Given the description of an element on the screen output the (x, y) to click on. 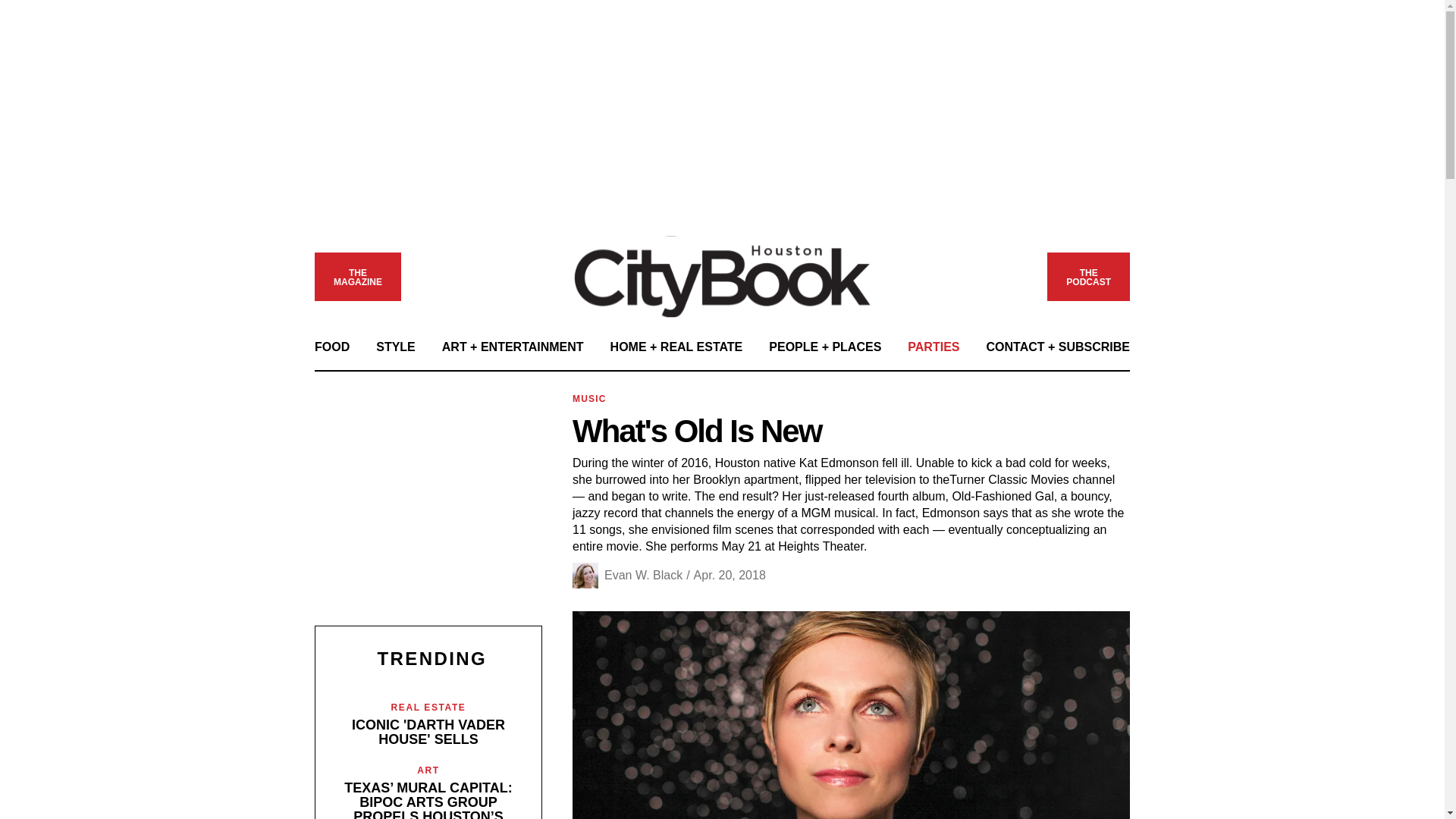
FOOD (331, 346)
3rd party ad content (721, 83)
Houston CityBook logo (724, 276)
STYLE (394, 346)
3rd party ad content (357, 277)
